Given the description of an element on the screen output the (x, y) to click on. 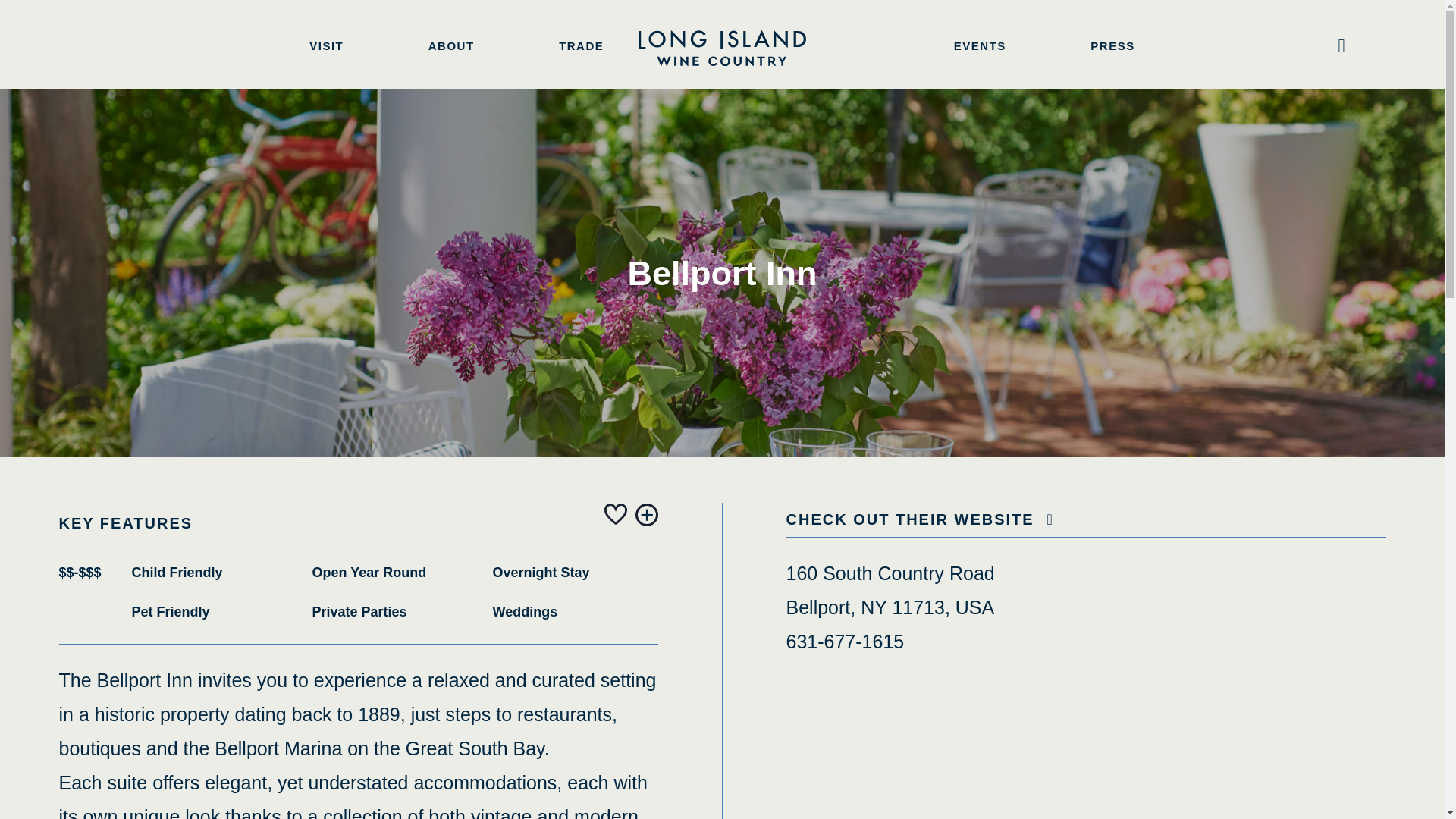
TRADE (581, 45)
CHECK OUT THEIR WEBSITE (923, 519)
PRESS (1112, 45)
631-677-1615 (845, 640)
EVENTS (979, 45)
VISIT (325, 45)
ABOUT (451, 45)
